Given the description of an element on the screen output the (x, y) to click on. 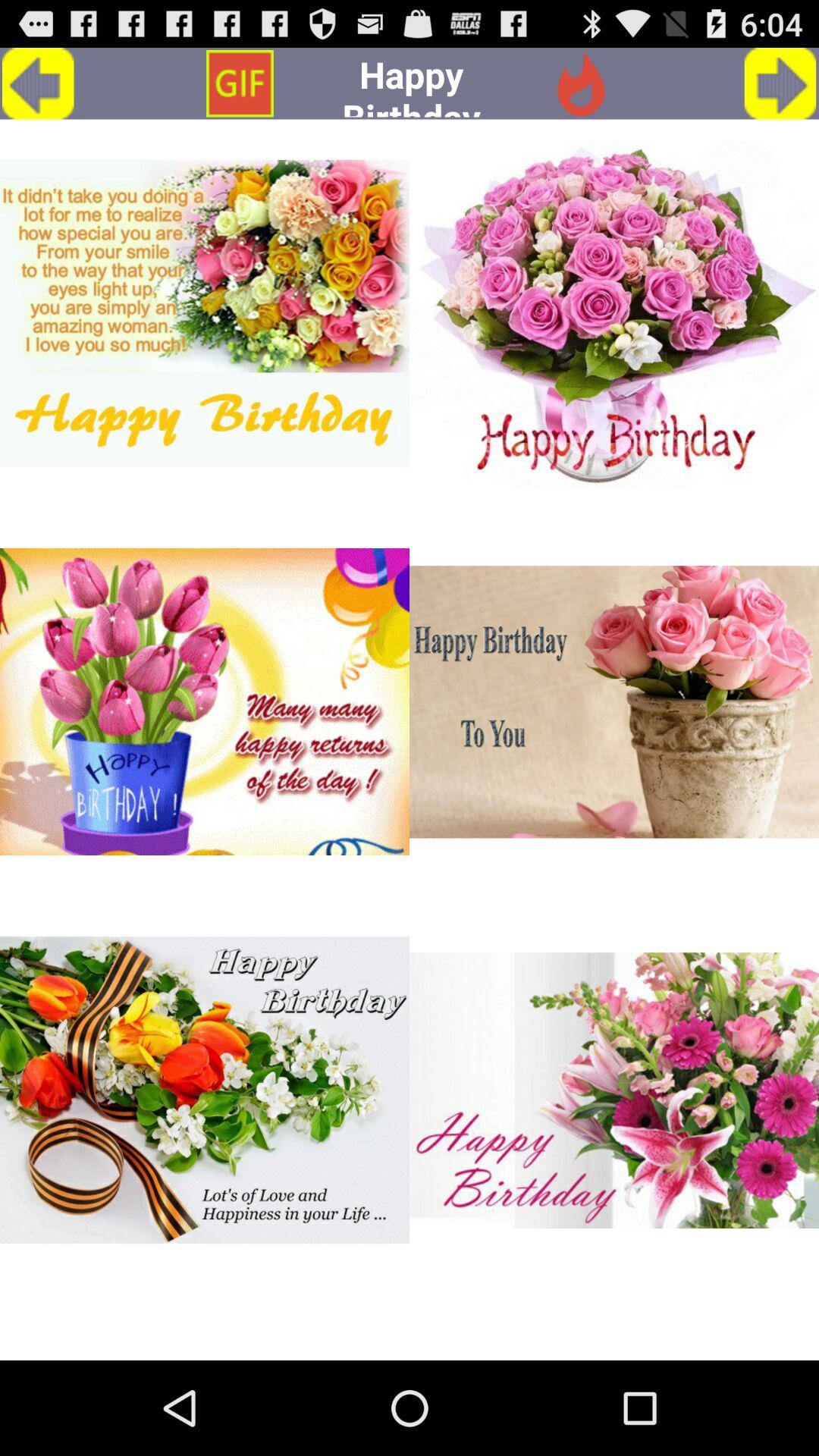
choose icon to the left of the happy birthday app (239, 83)
